Given the description of an element on the screen output the (x, y) to click on. 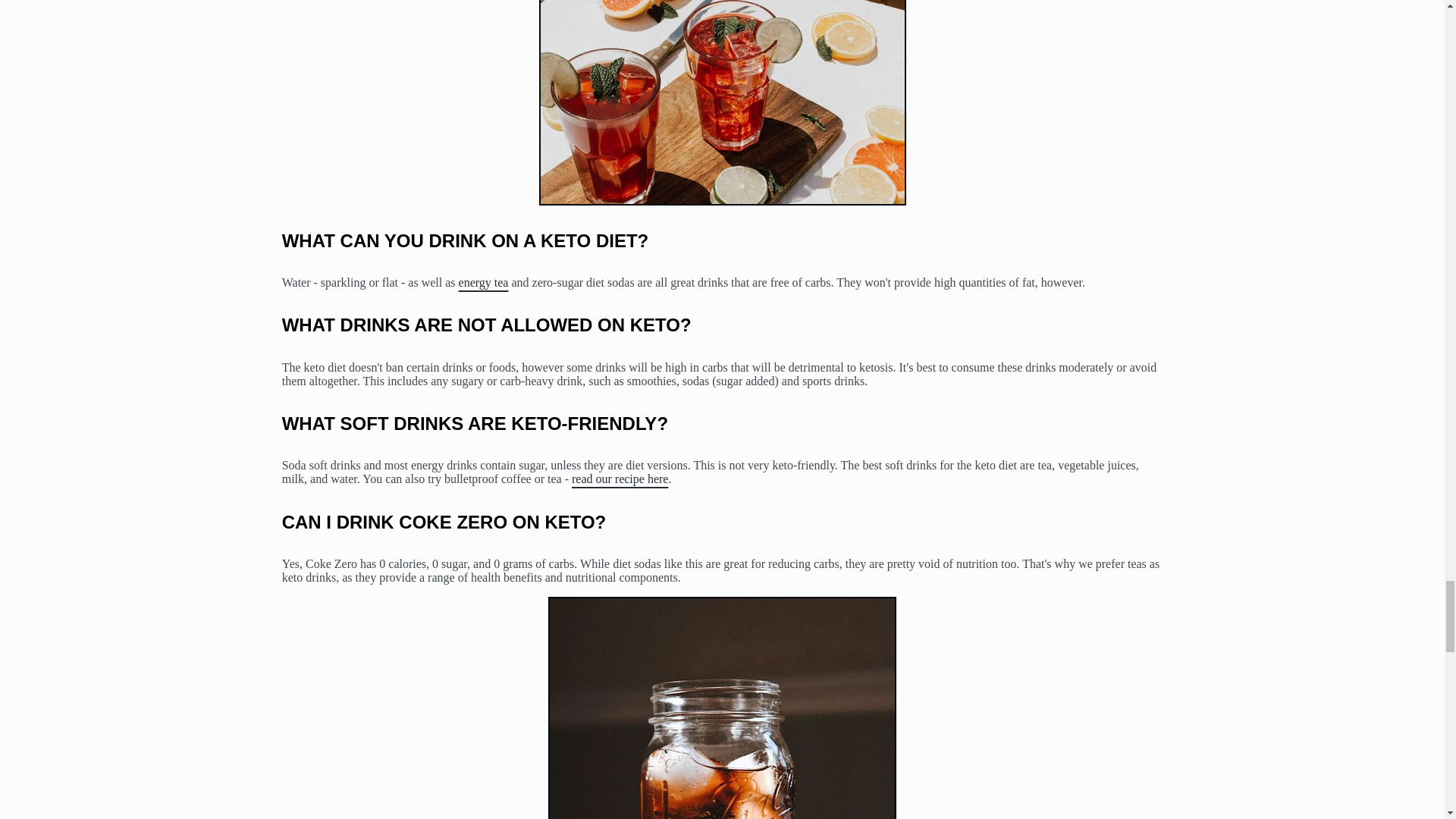
Zest Energy Tea (483, 282)
